Given the description of an element on the screen output the (x, y) to click on. 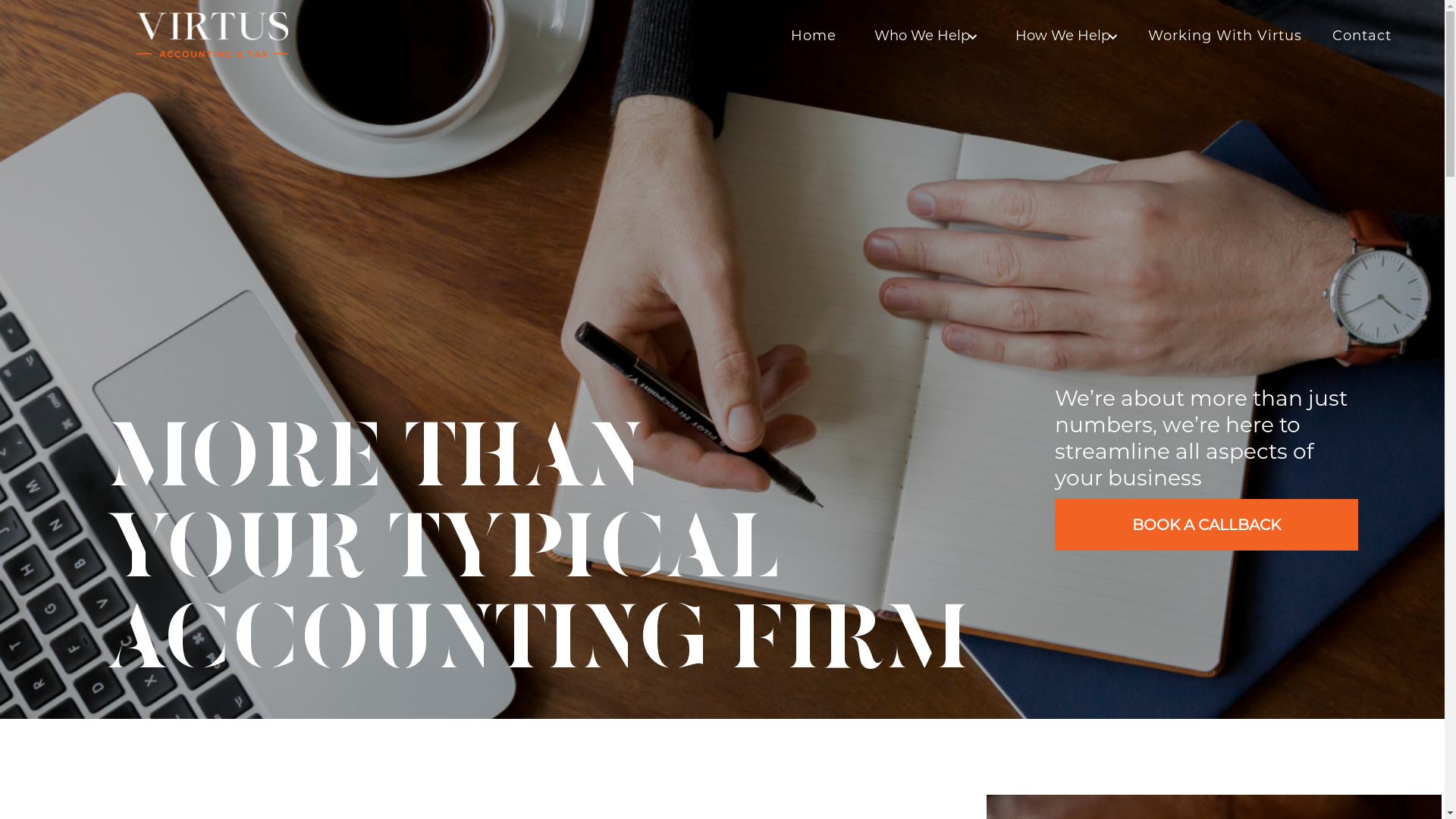
Working With Virtus Element type: text (1224, 35)
Home Element type: text (813, 35)
BOOK A CALLBACK Element type: text (1205, 524)
Contact Element type: text (1361, 35)
